Given the description of an element on the screen output the (x, y) to click on. 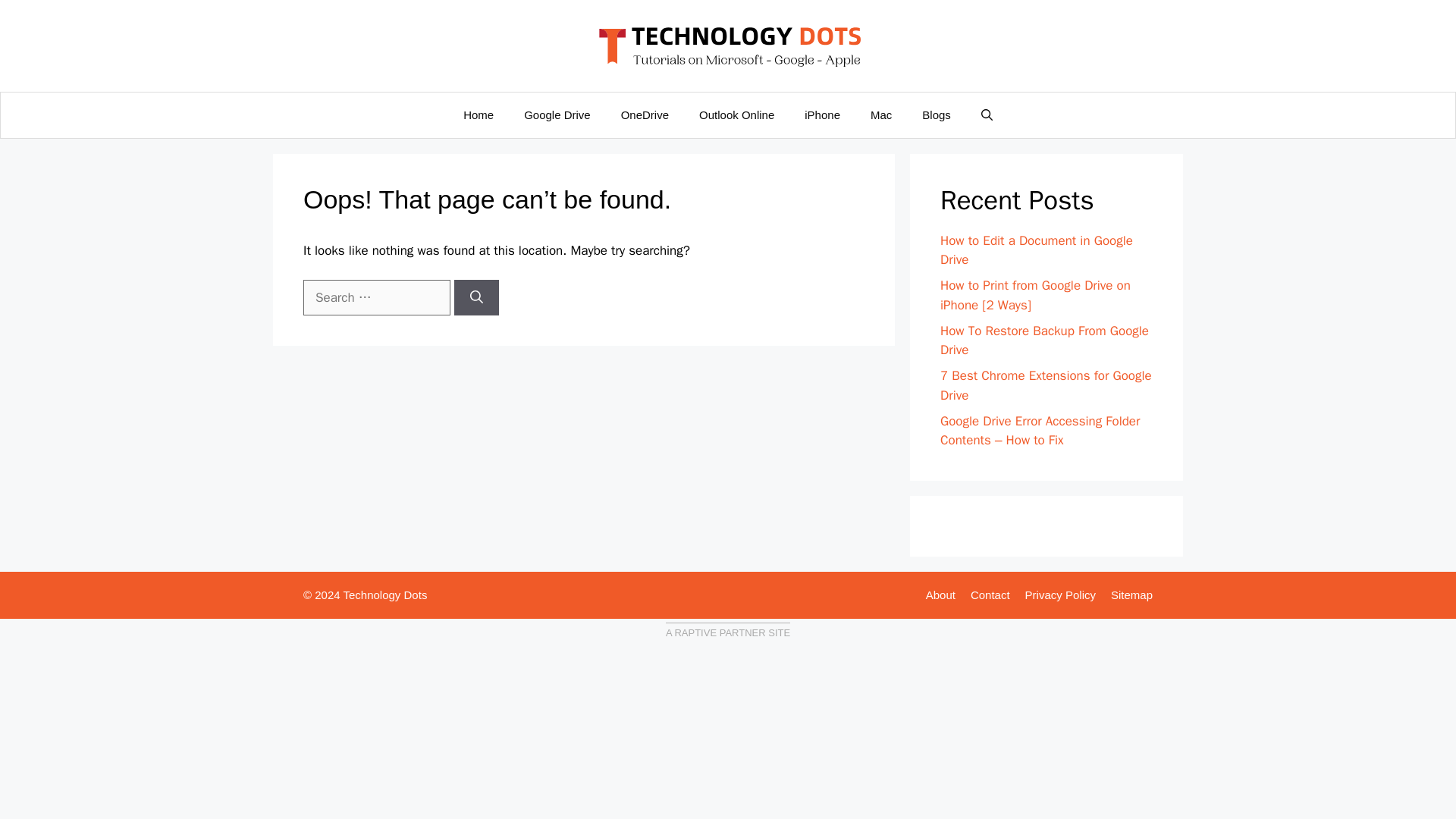
OneDrive (644, 115)
Outlook Online (736, 115)
iPhone (822, 115)
Search for: (375, 298)
Google Drive (556, 115)
Contact (990, 594)
7 Best Chrome Extensions for Google Drive (1045, 385)
How to Edit a Document in Google Drive (1036, 250)
Sitemap (1131, 594)
Blogs (936, 115)
Privacy Policy (1060, 594)
Mac (881, 115)
About (940, 594)
Home (478, 115)
How To Restore Backup From Google Drive (1044, 340)
